Given the description of an element on the screen output the (x, y) to click on. 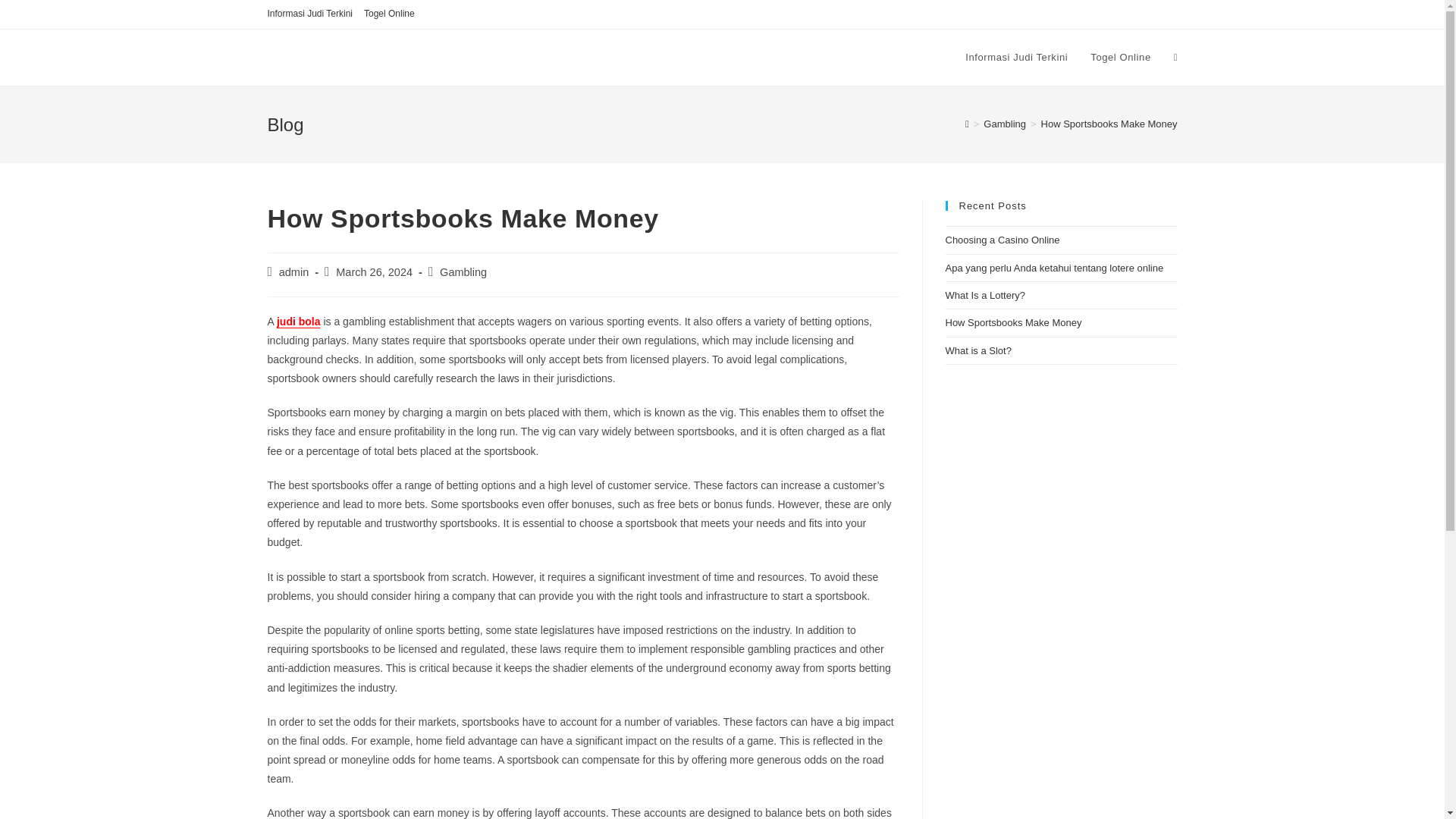
Choosing a Casino Online (1001, 239)
Apa yang perlu Anda ketahui tentang lotere online (1053, 267)
How Sportsbooks Make Money (1012, 322)
Informasi Judi Terkini (309, 13)
Gambling (462, 272)
admin (293, 272)
Togel Online (1119, 57)
What Is a Lottery? (984, 295)
What is a Slot? (977, 350)
Gambling (1005, 123)
judi bola (298, 321)
Informasi Judi Terkini (1015, 57)
Posts by admin (293, 272)
Togel Online (389, 13)
How Sportsbooks Make Money (1109, 123)
